Given the description of an element on the screen output the (x, y) to click on. 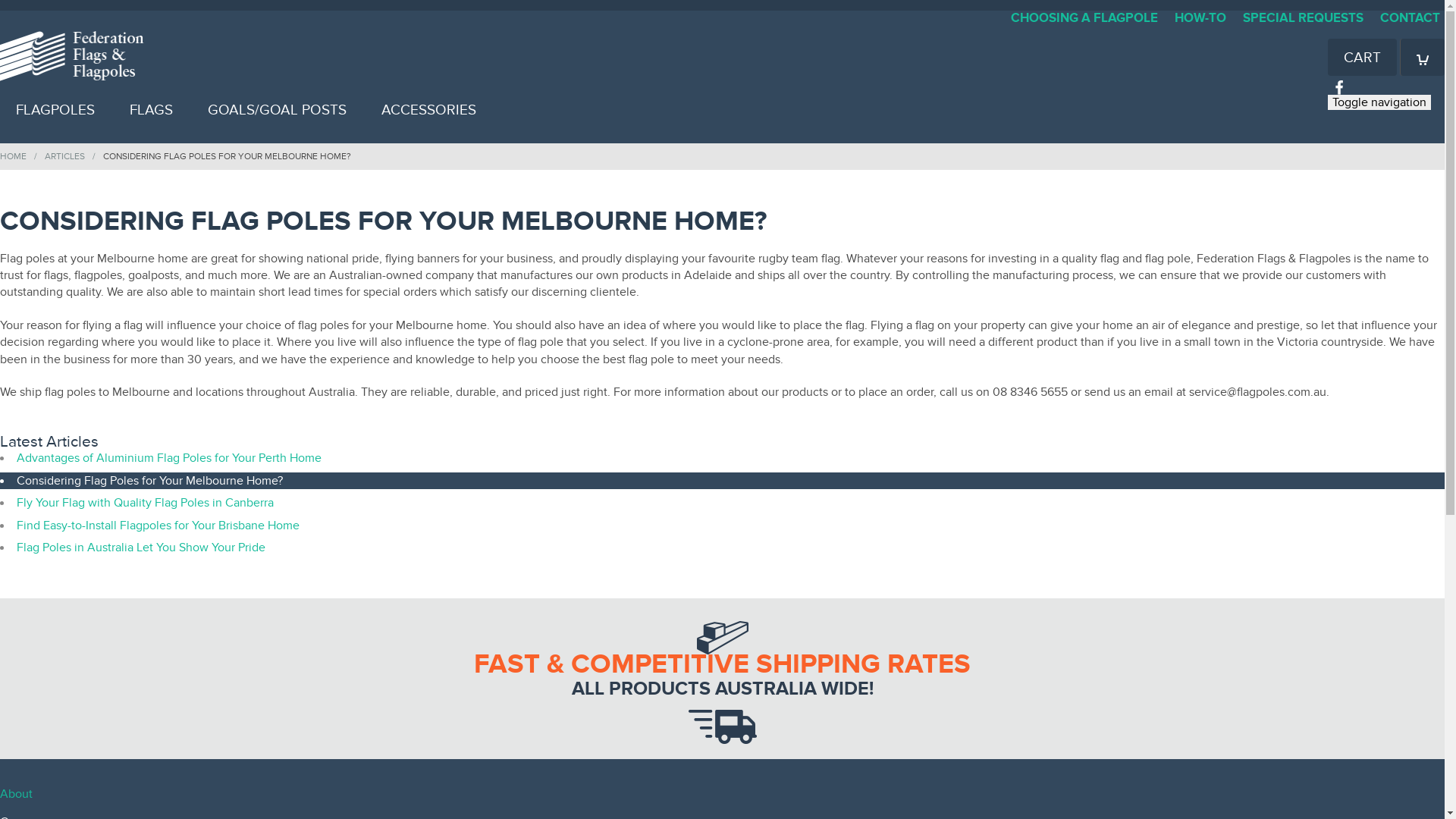
SPECIAL REQUESTS Element type: text (1303, 17)
About Element type: text (16, 793)
HOME Element type: text (13, 155)
ACCESSORIES Element type: text (428, 109)
GOALS/GOAL POSTS Element type: text (276, 109)
HOW-TO Element type: text (1200, 17)
CHOOSING A FLAGPOLE Element type: text (1084, 17)
Flag Poles in Australia Let You Show Your Pride Element type: text (140, 547)
Considering Flag Poles for Your Melbourne Home? Element type: text (149, 480)
Find Easy-to-Install Flagpoles for Your Brisbane Home Element type: text (157, 525)
CONTACT Element type: text (1409, 17)
FLAGPOLES Element type: text (55, 109)
FLAGS Element type: text (150, 109)
Fly Your Flag with Quality Flag Poles in Canberra Element type: text (144, 502)
Advantages of Aluminium Flag Poles for Your Perth Home Element type: text (168, 457)
CART Element type: text (1361, 56)
ARTICLES Element type: text (64, 155)
Toggle navigation Element type: text (1378, 101)
